Given the description of an element on the screen output the (x, y) to click on. 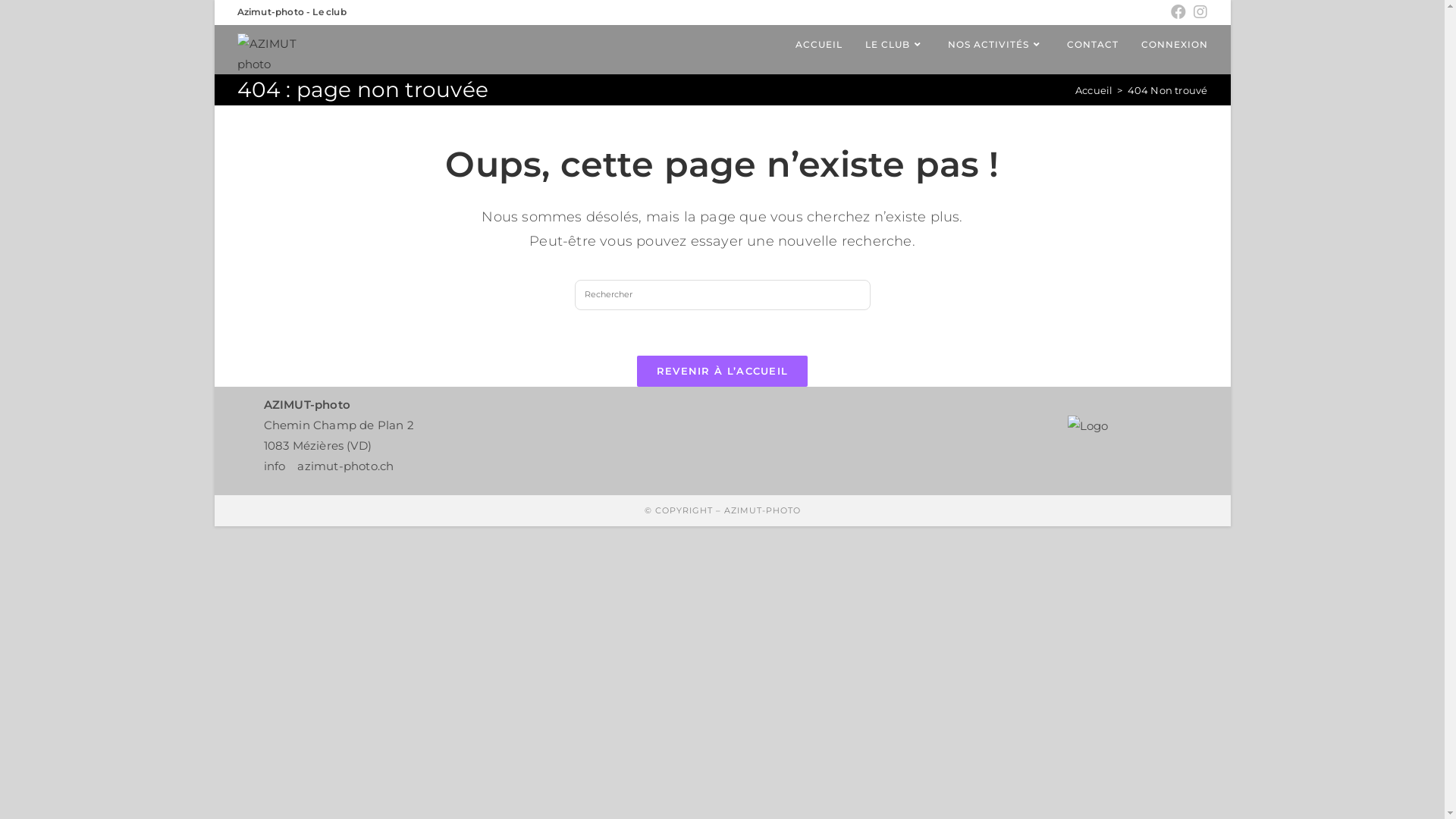
CONNEXION Element type: text (1174, 44)
Accueil Element type: text (1093, 90)
CONTACT Element type: text (1092, 44)
ACCUEIL Element type: text (818, 44)
LE CLUB Element type: text (894, 44)
